Given the description of an element on the screen output the (x, y) to click on. 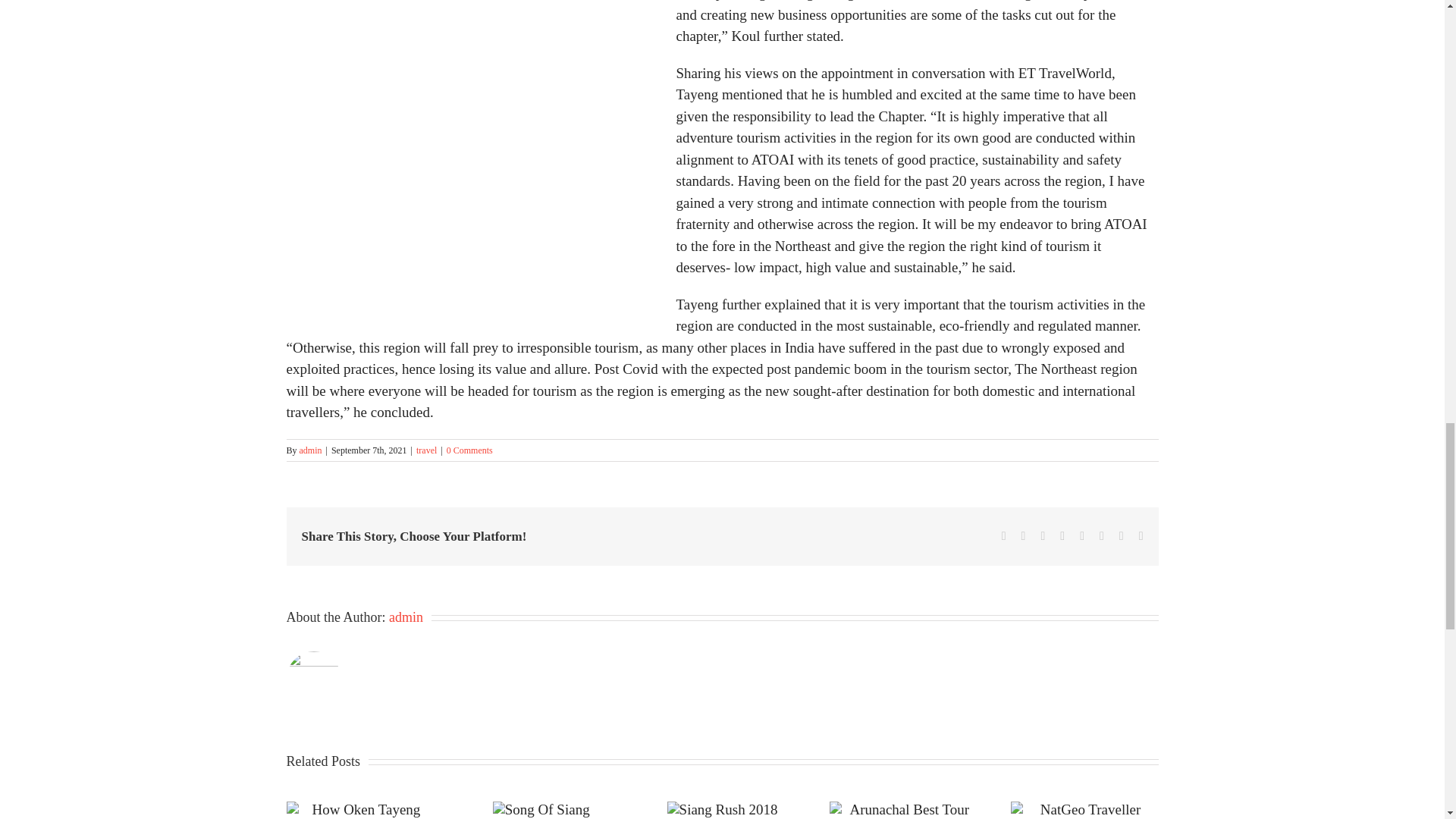
Posts by admin (310, 450)
admin (310, 450)
Posts by admin (405, 616)
